Given the description of an element on the screen output the (x, y) to click on. 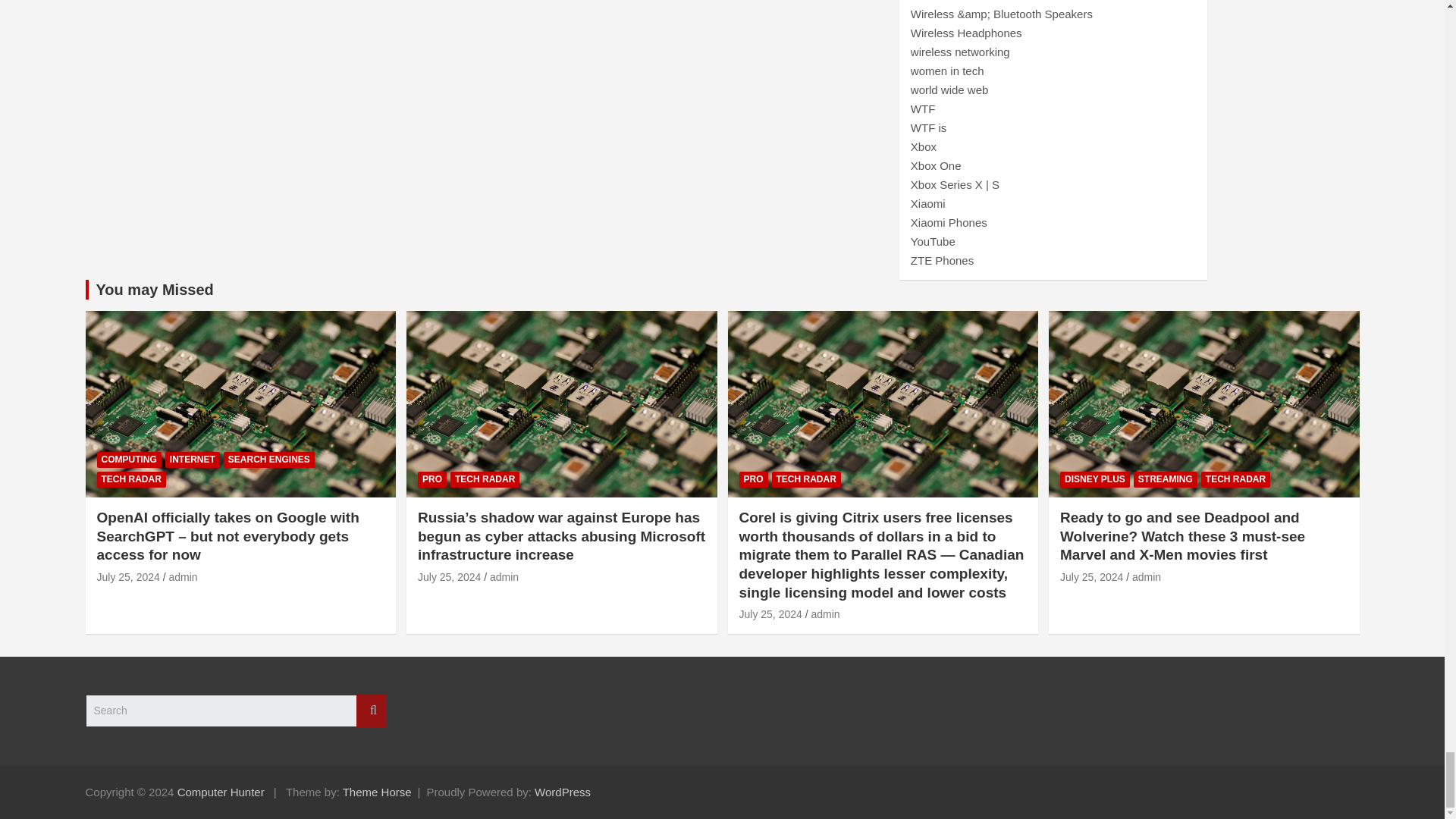
Theme Horse (377, 791)
Computer Hunter (220, 791)
WordPress (562, 791)
